Given the description of an element on the screen output the (x, y) to click on. 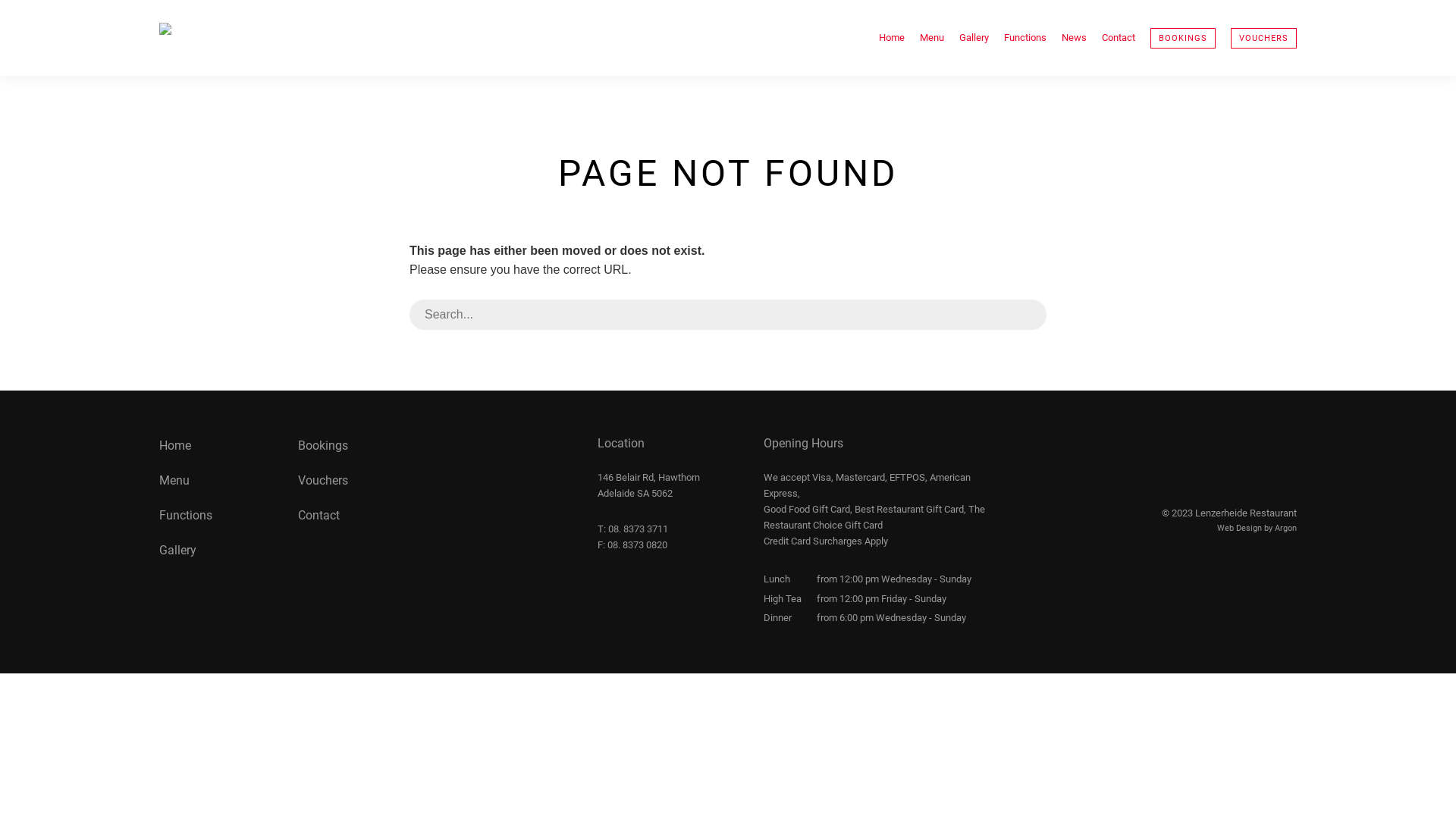
VOUCHERS Element type: text (1263, 37)
Gallery Element type: text (177, 549)
Functions Element type: text (1025, 37)
News Element type: text (1073, 37)
Menu Element type: text (174, 480)
Functions Element type: text (185, 515)
Gallery Element type: text (973, 37)
Home Element type: text (175, 445)
Bookings Element type: text (323, 445)
Contact Element type: text (318, 515)
Home Element type: text (891, 37)
Menu Element type: text (931, 37)
BOOKINGS Element type: text (1182, 37)
Contact Element type: text (1118, 37)
Argon Element type: text (1285, 528)
Vouchers Element type: text (323, 480)
